Given the description of an element on the screen output the (x, y) to click on. 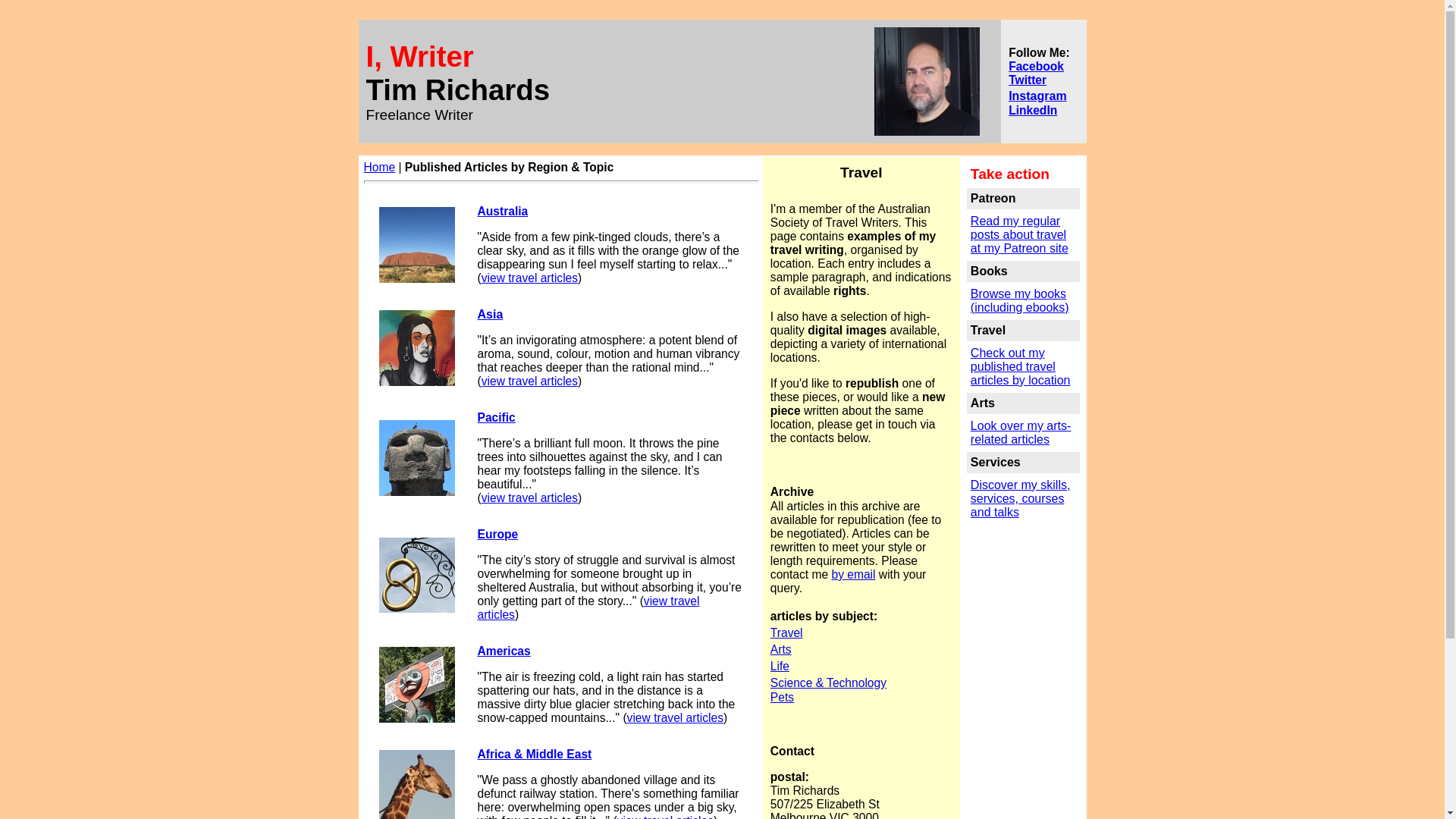
Europe Element type: text (497, 533)
Arts Element type: text (780, 649)
Pets Element type: text (781, 696)
Science & Technology Element type: text (828, 682)
LinkedIn Element type: text (1032, 109)
view travel articles Element type: text (529, 380)
Look over my arts-related articles Element type: text (1020, 432)
Asia Element type: text (490, 313)
Pacific Element type: text (496, 417)
Browse my books (including ebooks) Element type: text (1019, 300)
Life Element type: text (779, 665)
Check out my published travel articles by location Element type: text (1020, 366)
Australia Element type: text (502, 210)
Twitter Element type: text (1027, 78)
Instagram Element type: text (1037, 95)
view travel articles Element type: text (675, 717)
Read my regular posts about travel at my Patreon site Element type: text (1019, 234)
view travel articles Element type: text (588, 607)
Facebook Element type: text (1035, 65)
by email Element type: text (853, 573)
Discover my skills, services, courses and talks Element type: text (1020, 498)
view travel articles Element type: text (529, 277)
view travel articles Element type: text (529, 497)
Africa & Middle East Element type: text (534, 753)
Travel Element type: text (786, 632)
Americas Element type: text (503, 650)
Home Element type: text (379, 166)
